Given the description of an element on the screen output the (x, y) to click on. 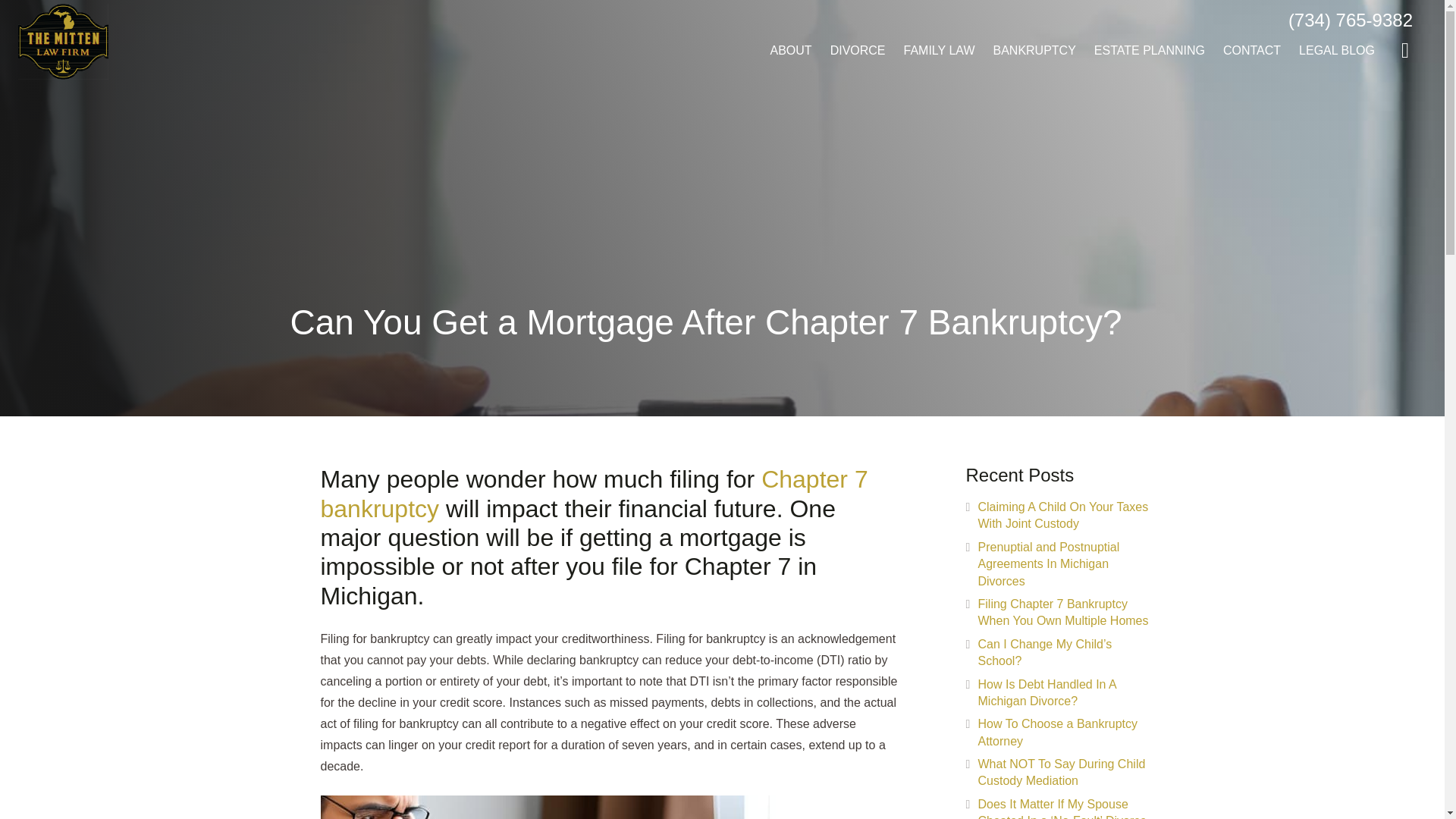
DIVORCE (858, 51)
Prenuptial and Postnuptial Agreements In Michigan Divorces (1048, 564)
Claiming A Child On Your Taxes With Joint Custody (1063, 514)
LEGAL BLOG (1337, 51)
ABOUT (791, 51)
Facebook (1405, 50)
FAMILY LAW (939, 51)
Chapter 7 bankruptcy (593, 493)
Filing Chapter 7 Bankruptcy When You Own Multiple Homes (1063, 612)
How Is Debt Handled In A Michigan Divorce? (1047, 692)
ESTATE PLANNING (1149, 51)
CONTACT (1252, 51)
BANKRUPTCY (1034, 51)
How To Choose a Bankruptcy Attorney (1057, 731)
What NOT To Say During Child Custody Mediation (1061, 772)
